Given the description of an element on the screen output the (x, y) to click on. 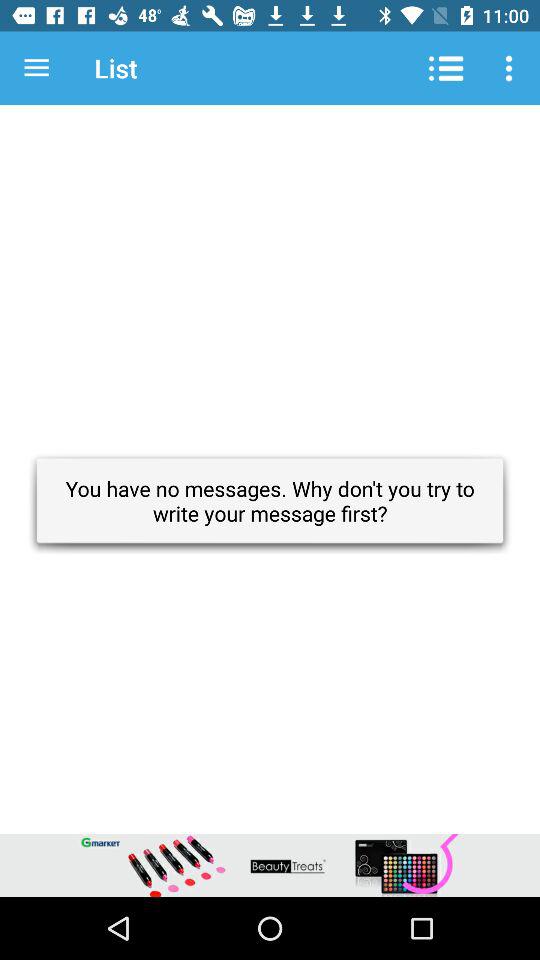
click the item to the left of list icon (36, 68)
